Given the description of an element on the screen output the (x, y) to click on. 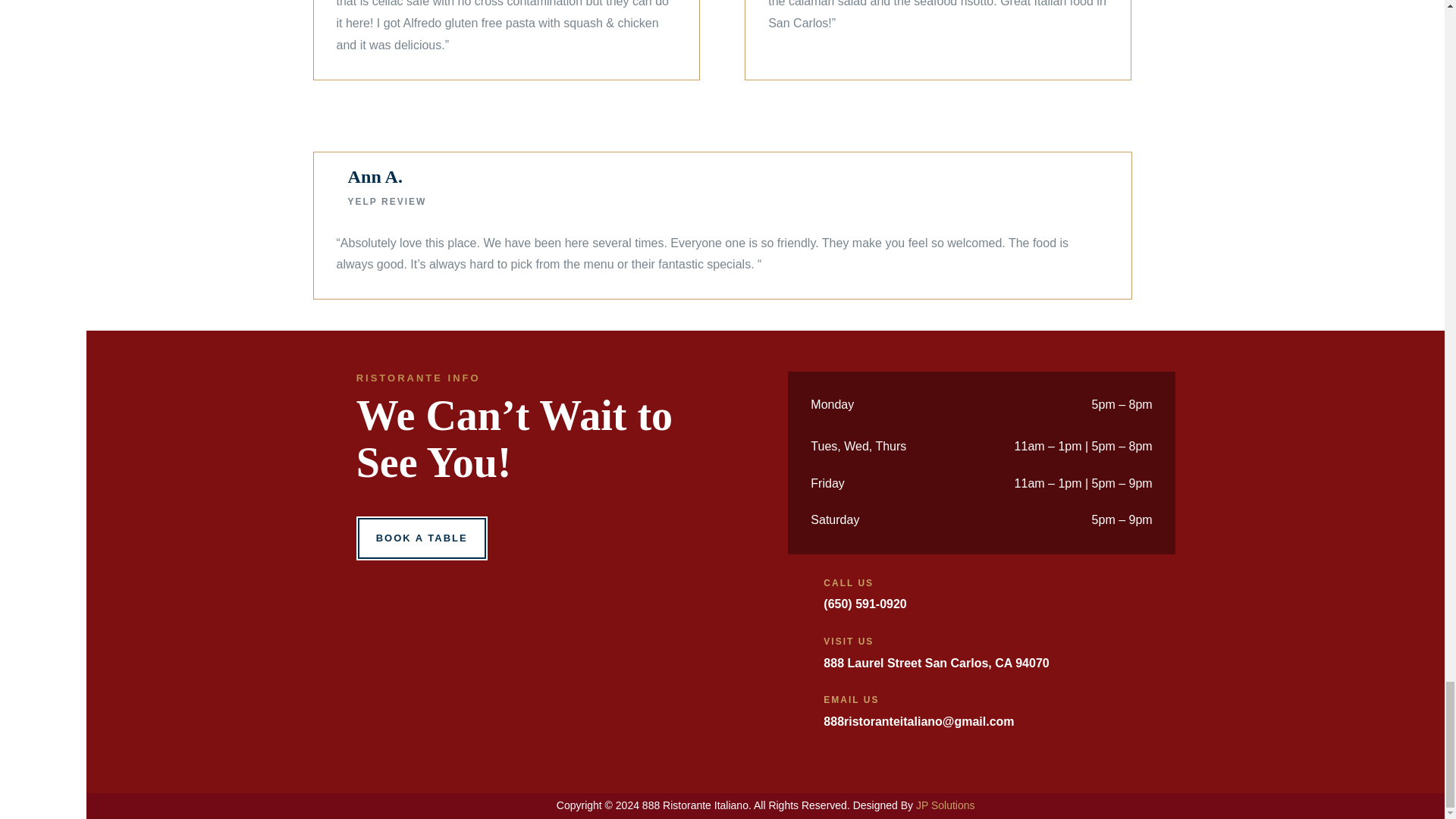
888 Laurel Street San Carlos, CA 94070 (936, 662)
JP Solutions (945, 805)
BOOK A TABLE (421, 538)
